Given the description of an element on the screen output the (x, y) to click on. 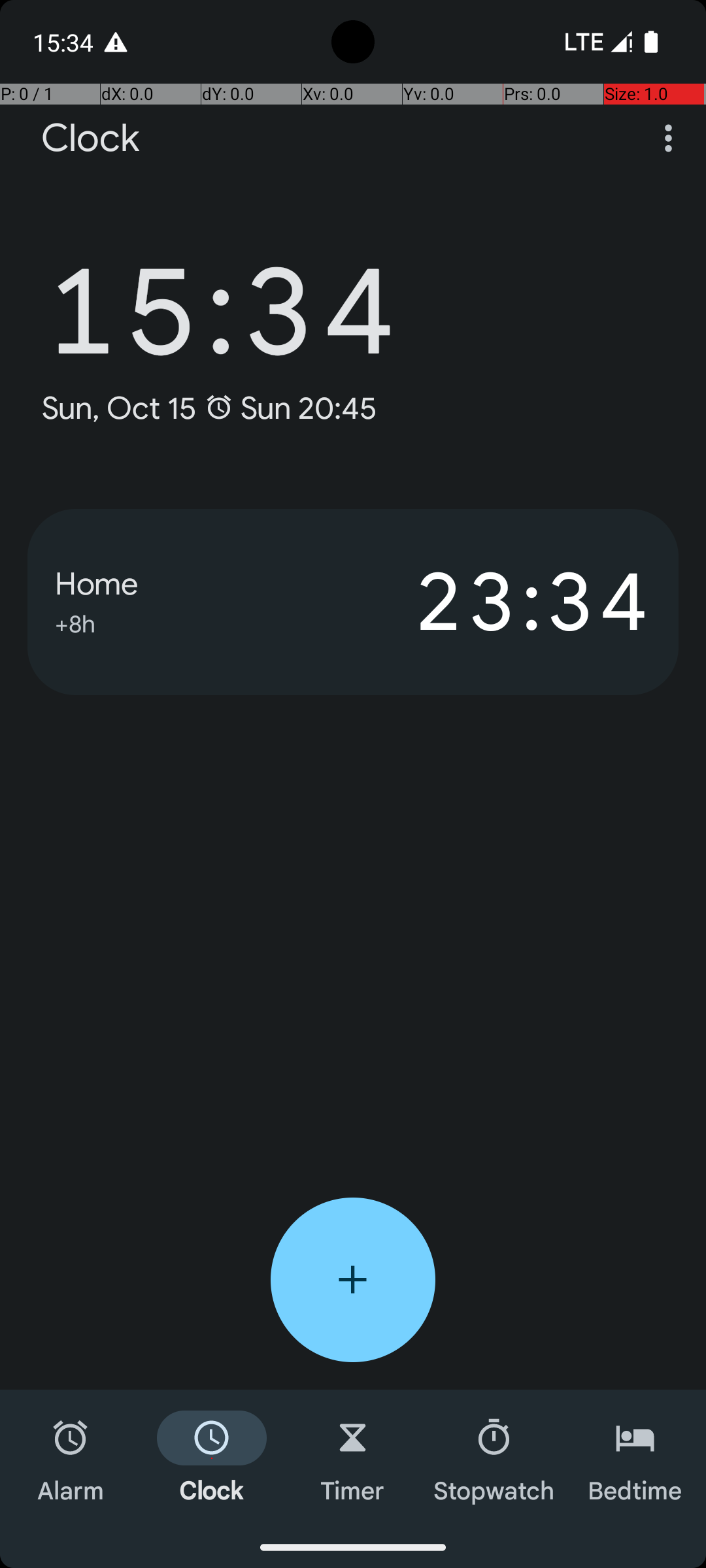
Add city Element type: android.widget.Button (352, 1279)
Sun, Oct 15 A Sun 20:45 Element type: android.widget.TextView (208, 407)
+8h Element type: android.widget.TextView (74, 621)
23:34 Element type: android.widget.TextView (502, 601)
